Given the description of an element on the screen output the (x, y) to click on. 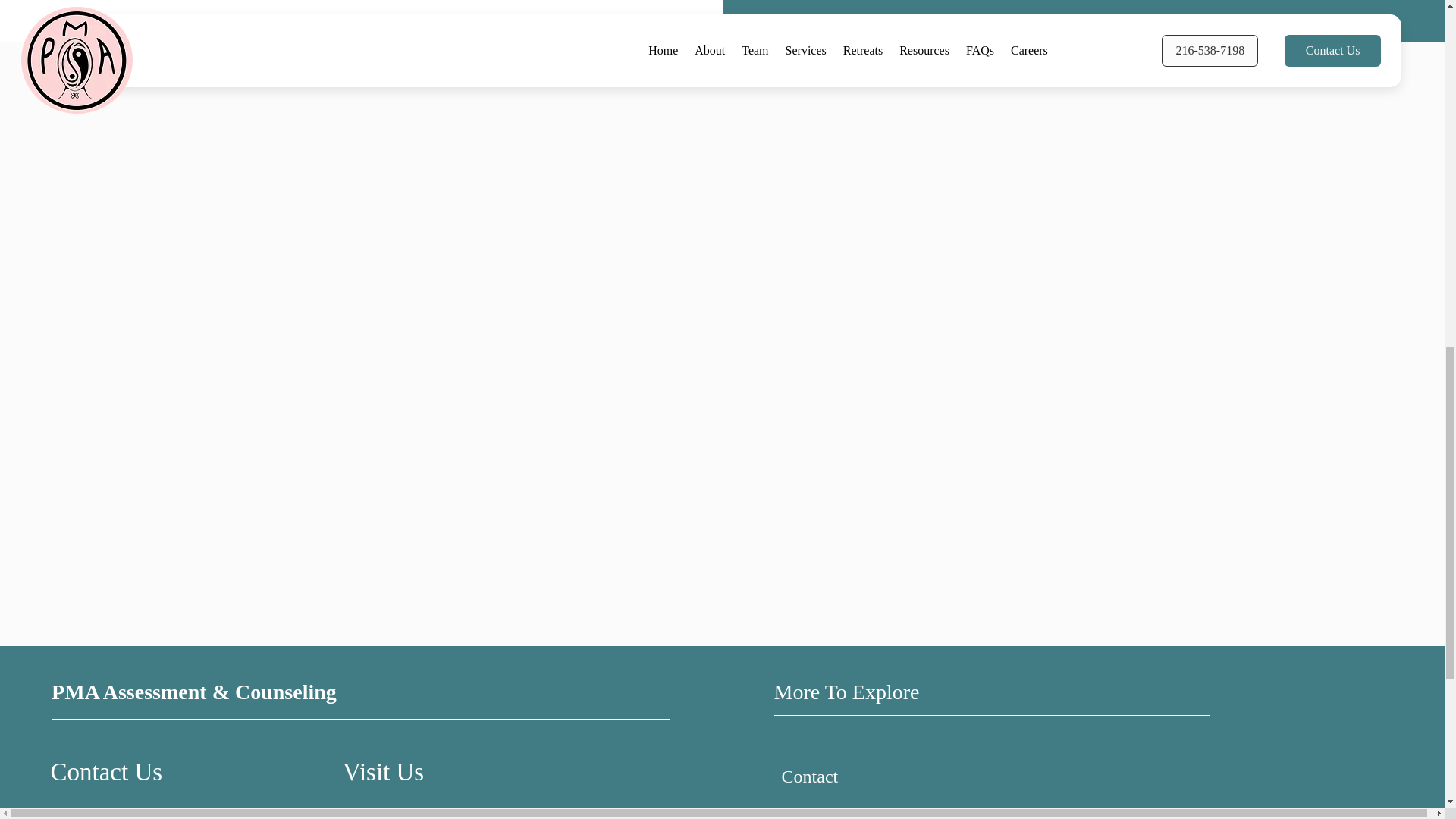
Team (845, 809)
Contact (845, 776)
3500 Lorain Ave, Suite 300 (409, 814)
